Given the description of an element on the screen output the (x, y) to click on. 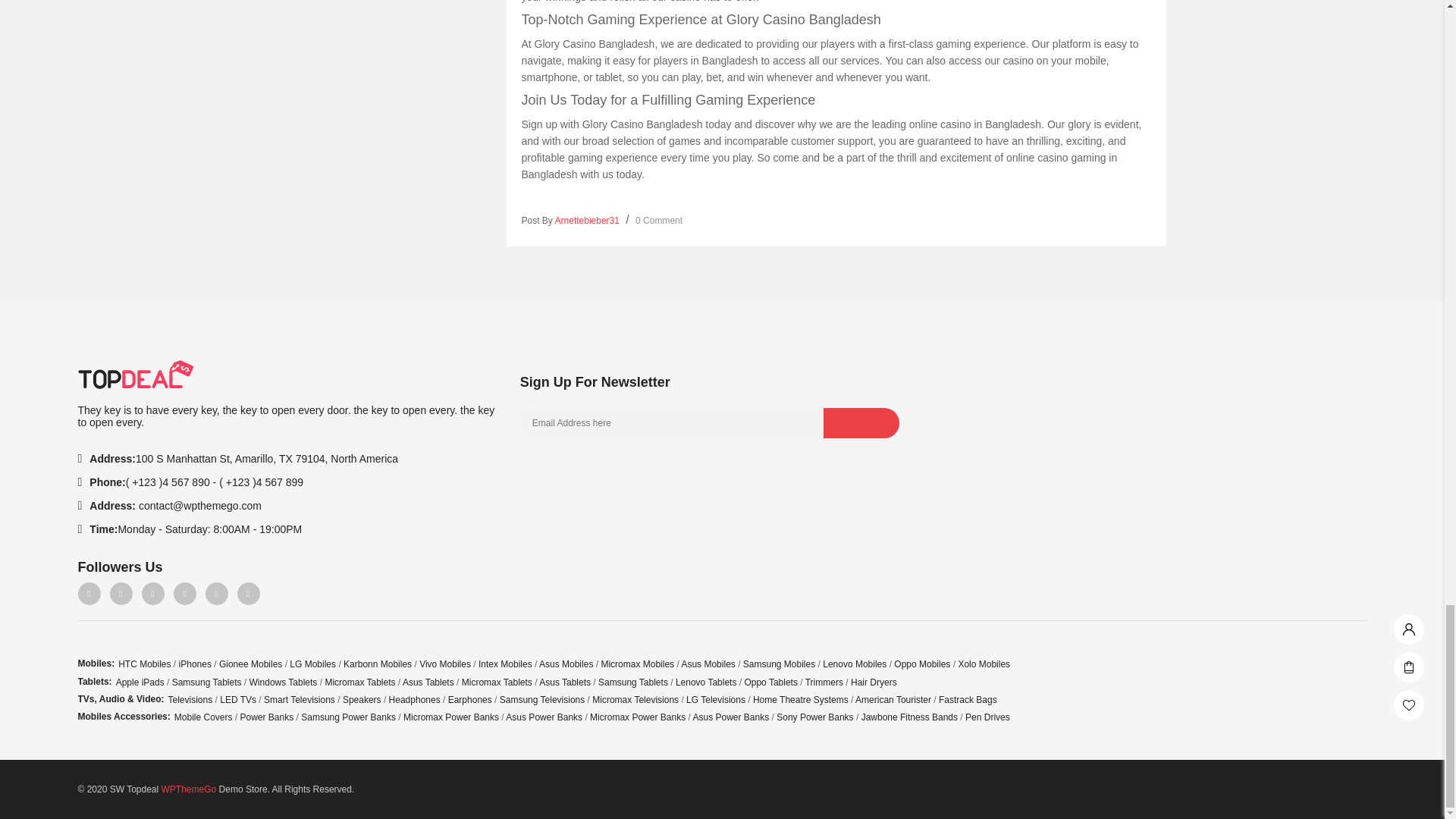
Google Plus (216, 593)
Posts by arnettebieber31 (587, 220)
Instagram (184, 593)
pinterest (152, 593)
Face Book (88, 593)
Rss (247, 593)
Twitter (120, 593)
subscribe (861, 422)
